Given the description of an element on the screen output the (x, y) to click on. 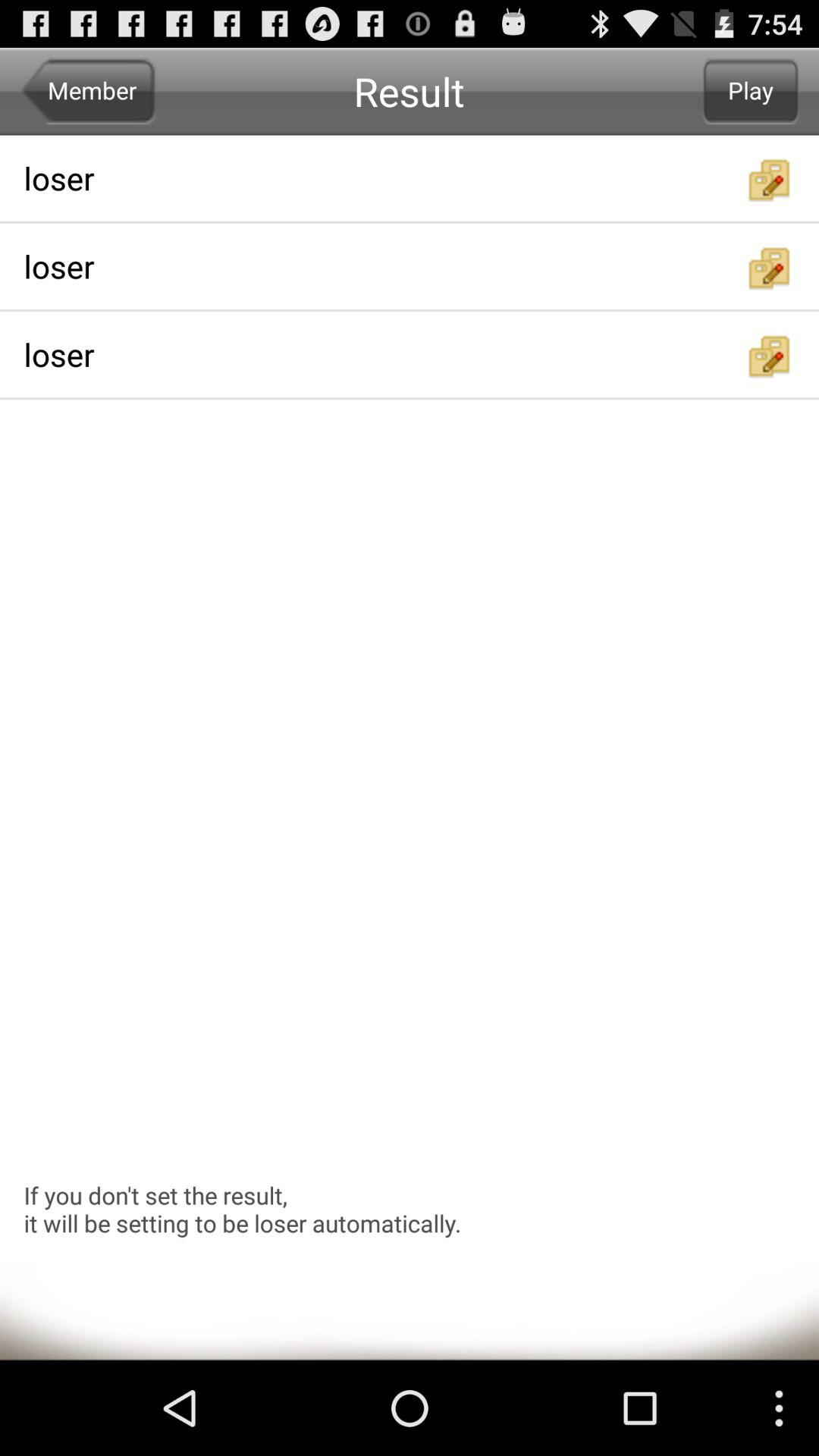
tap the item above the loser app (87, 91)
